Given the description of an element on the screen output the (x, y) to click on. 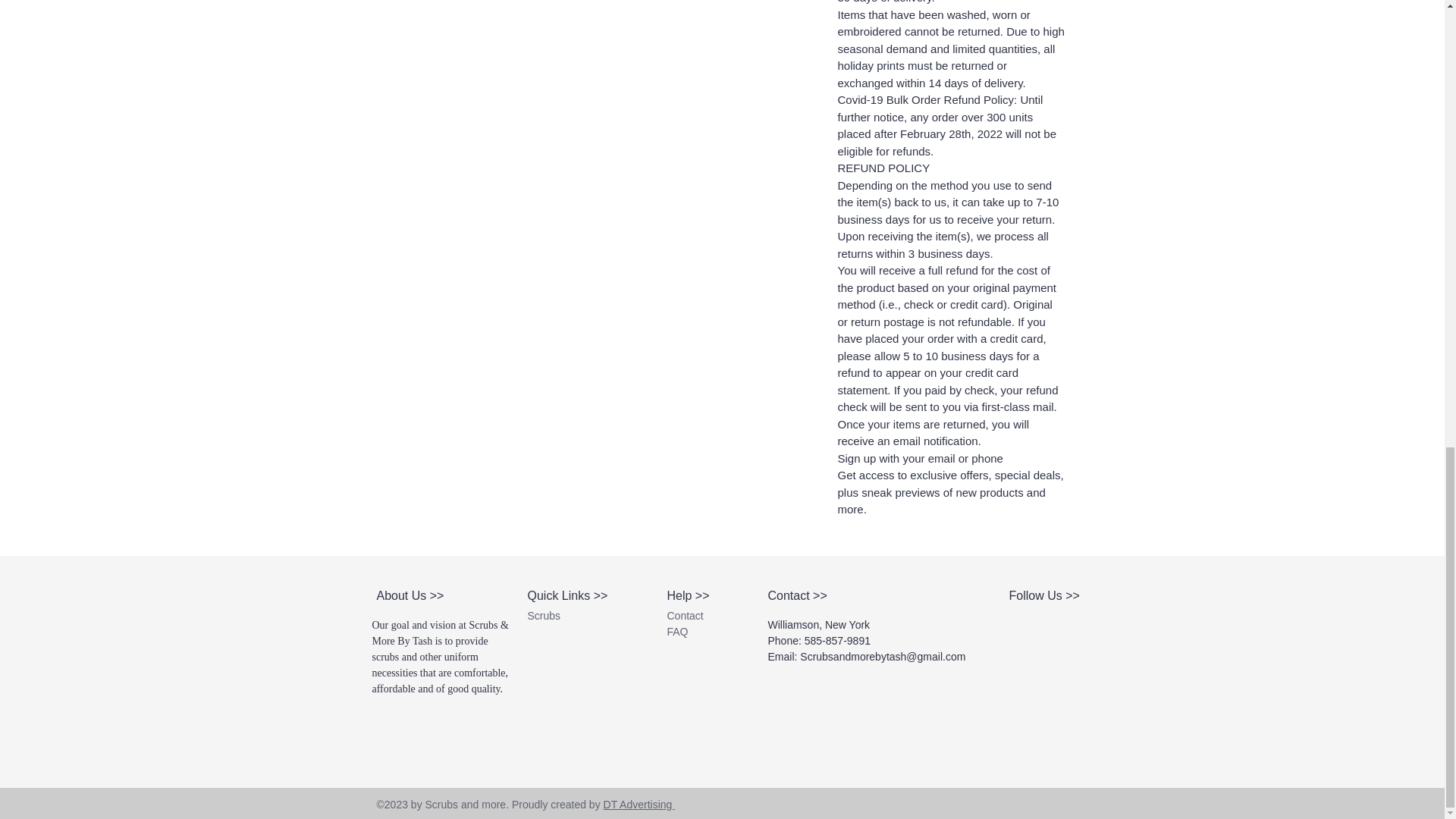
Scrubs (543, 615)
DT Advertising  (639, 804)
Contact (684, 615)
FAQ (677, 631)
